Given the description of an element on the screen output the (x, y) to click on. 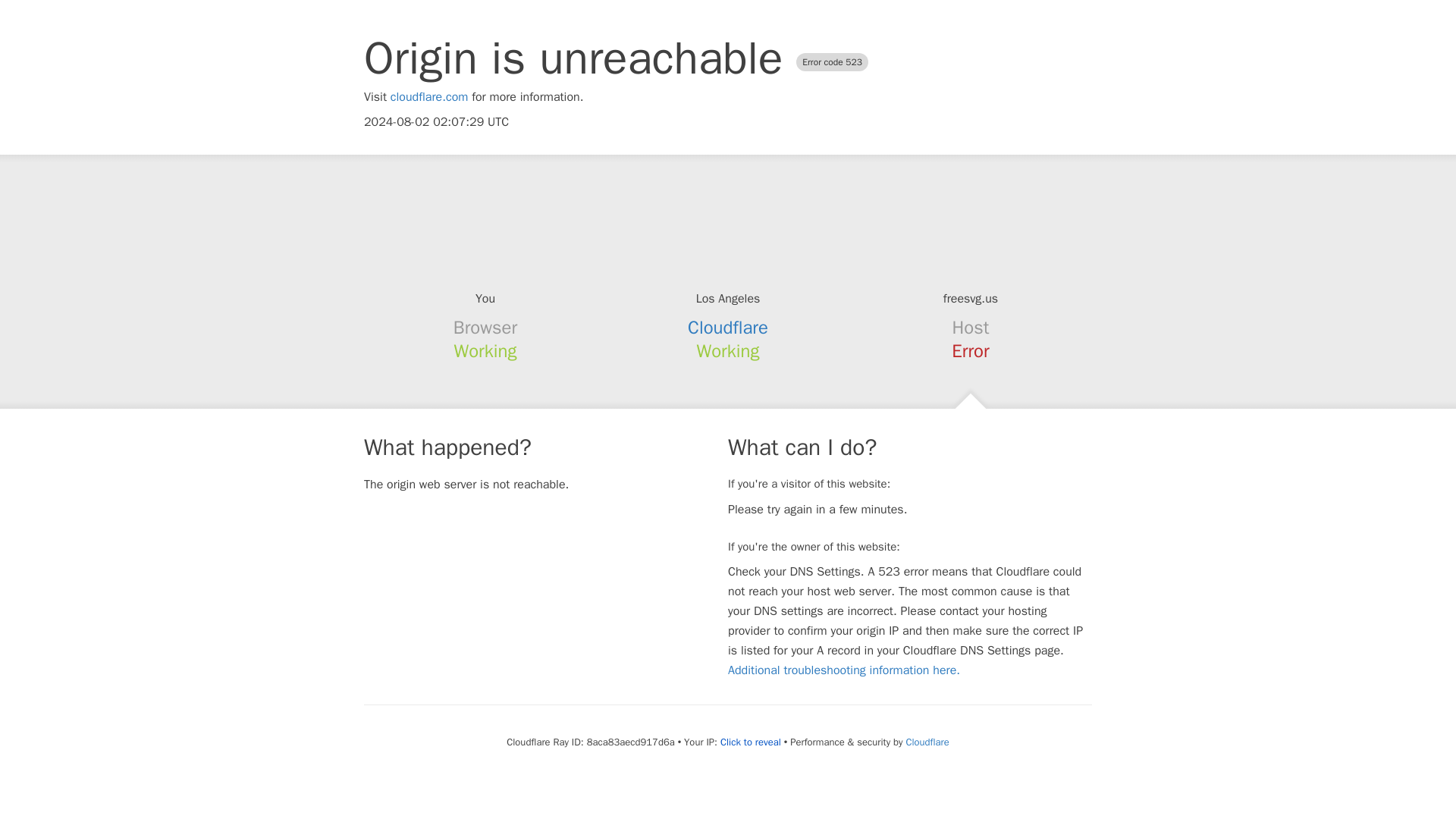
cloudflare.com (429, 96)
Cloudflare (927, 741)
Click to reveal (750, 742)
Cloudflare (727, 327)
Additional troubleshooting information here. (843, 670)
